Given the description of an element on the screen output the (x, y) to click on. 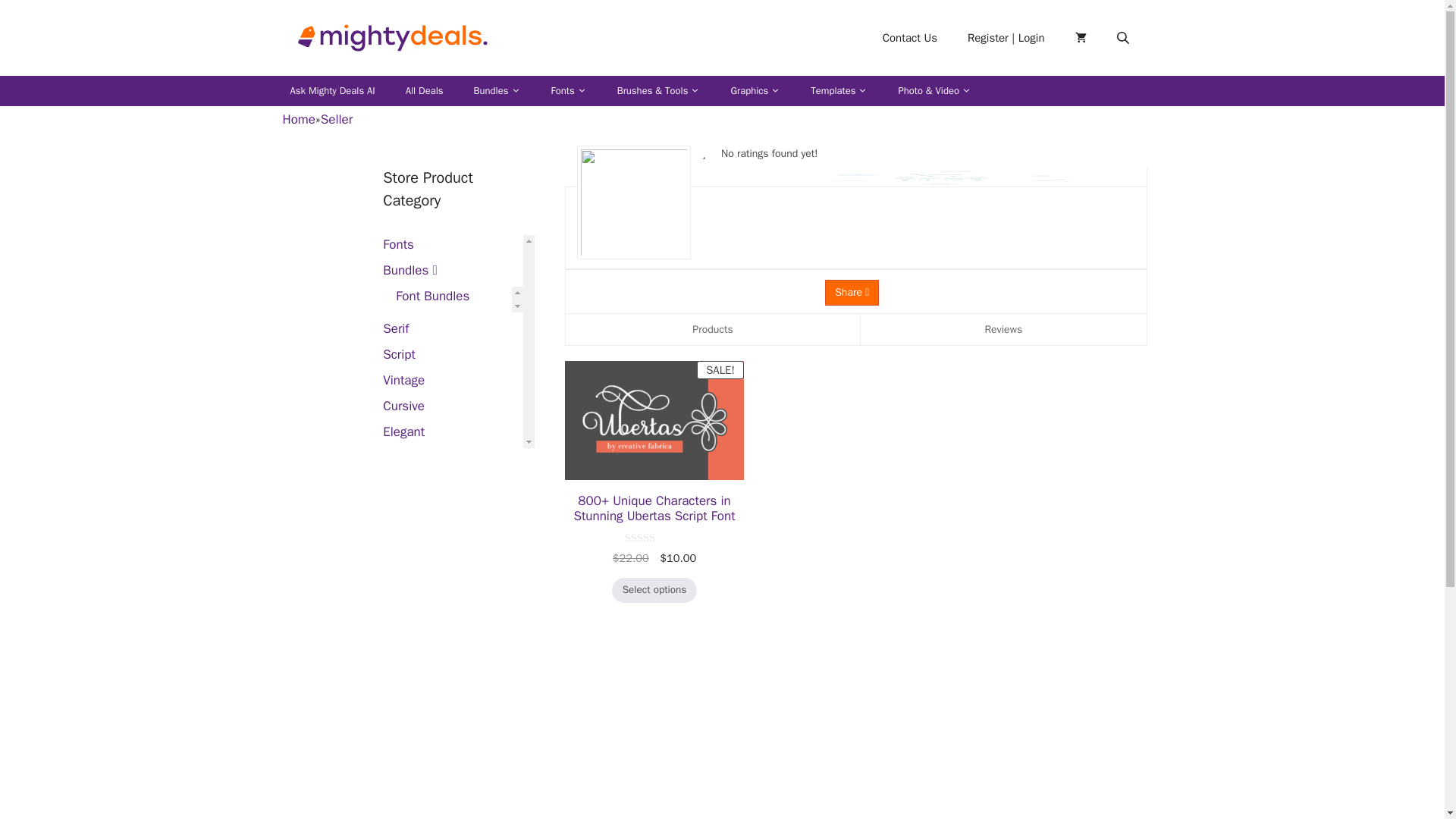
Fonts (568, 91)
All Deals (424, 91)
Bundles (496, 91)
Contact Us (909, 37)
View your shopping cart (1080, 37)
Not yet rated (654, 537)
Ask Mighty Deals AI (332, 91)
